Given the description of an element on the screen output the (x, y) to click on. 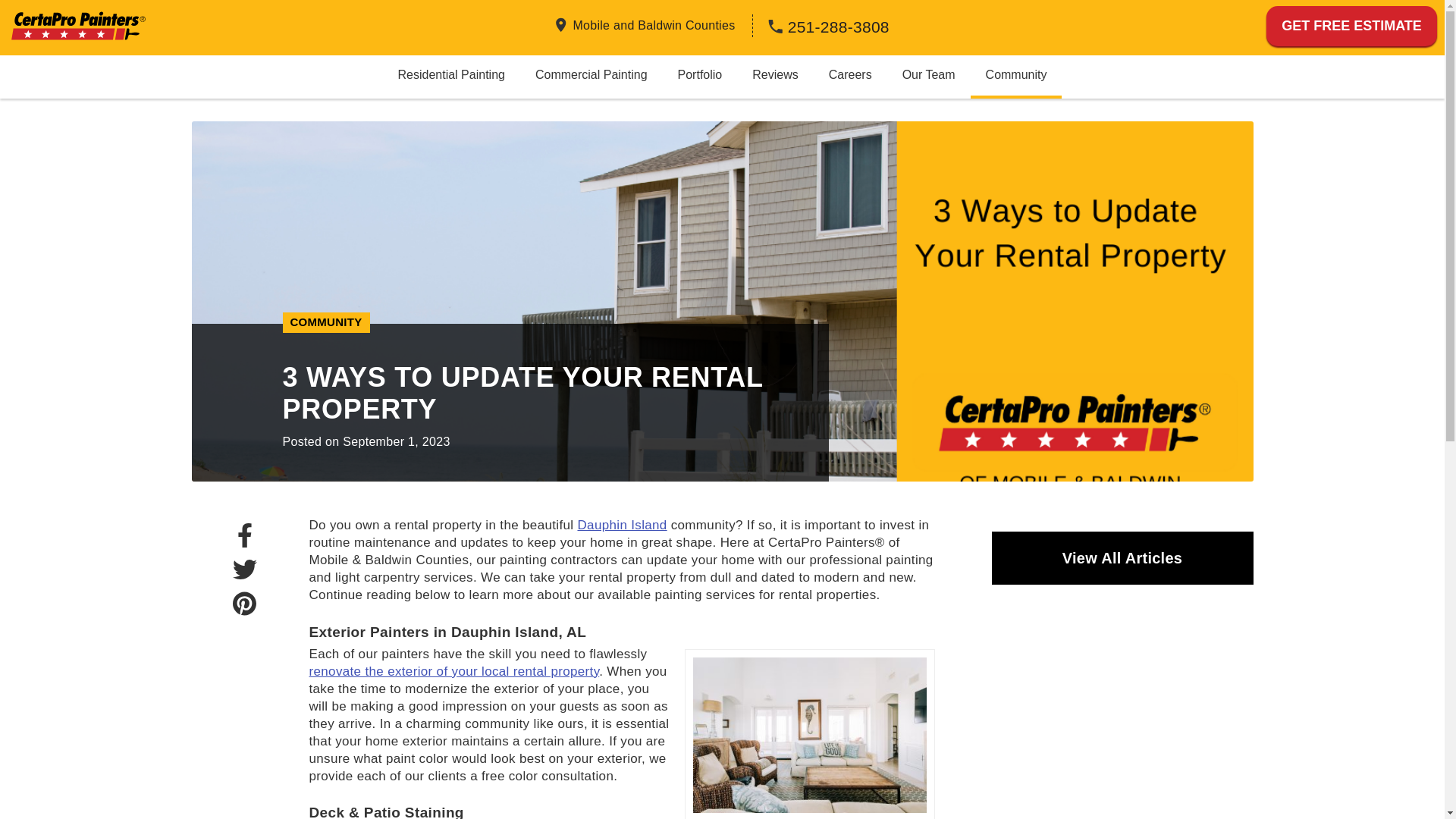
Community (1016, 74)
Commercial Painting (590, 74)
Residential Painting (450, 74)
Reviews (774, 74)
Our Team (928, 74)
Careers (849, 74)
Portfolio (700, 74)
Mobile and Baldwin Counties (653, 24)
GET FREE ESTIMATE (1351, 25)
